Given the description of an element on the screen output the (x, y) to click on. 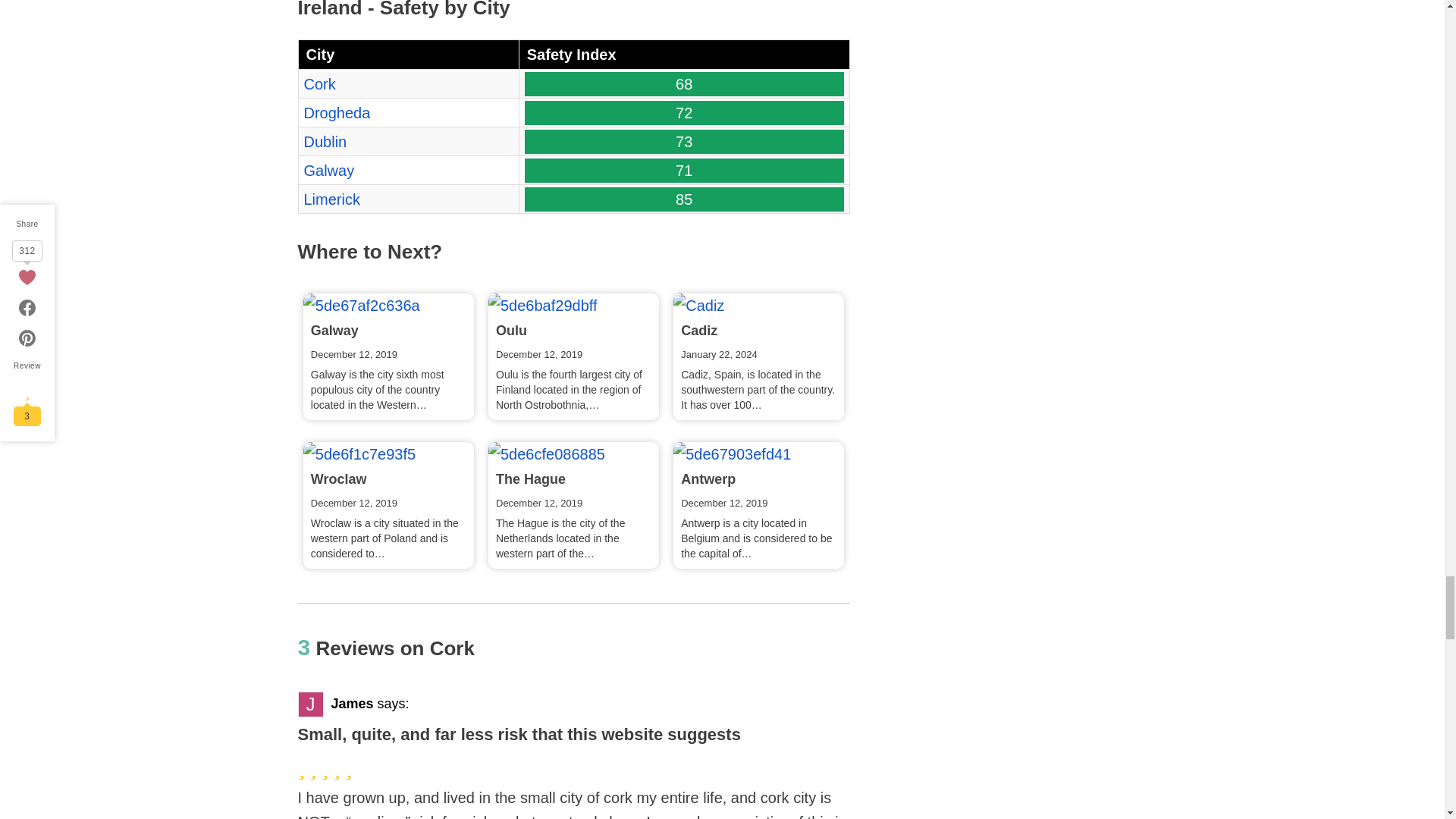
Cork (318, 84)
Drogheda (335, 112)
Oulu (541, 305)
Galway (361, 305)
